Given the description of an element on the screen output the (x, y) to click on. 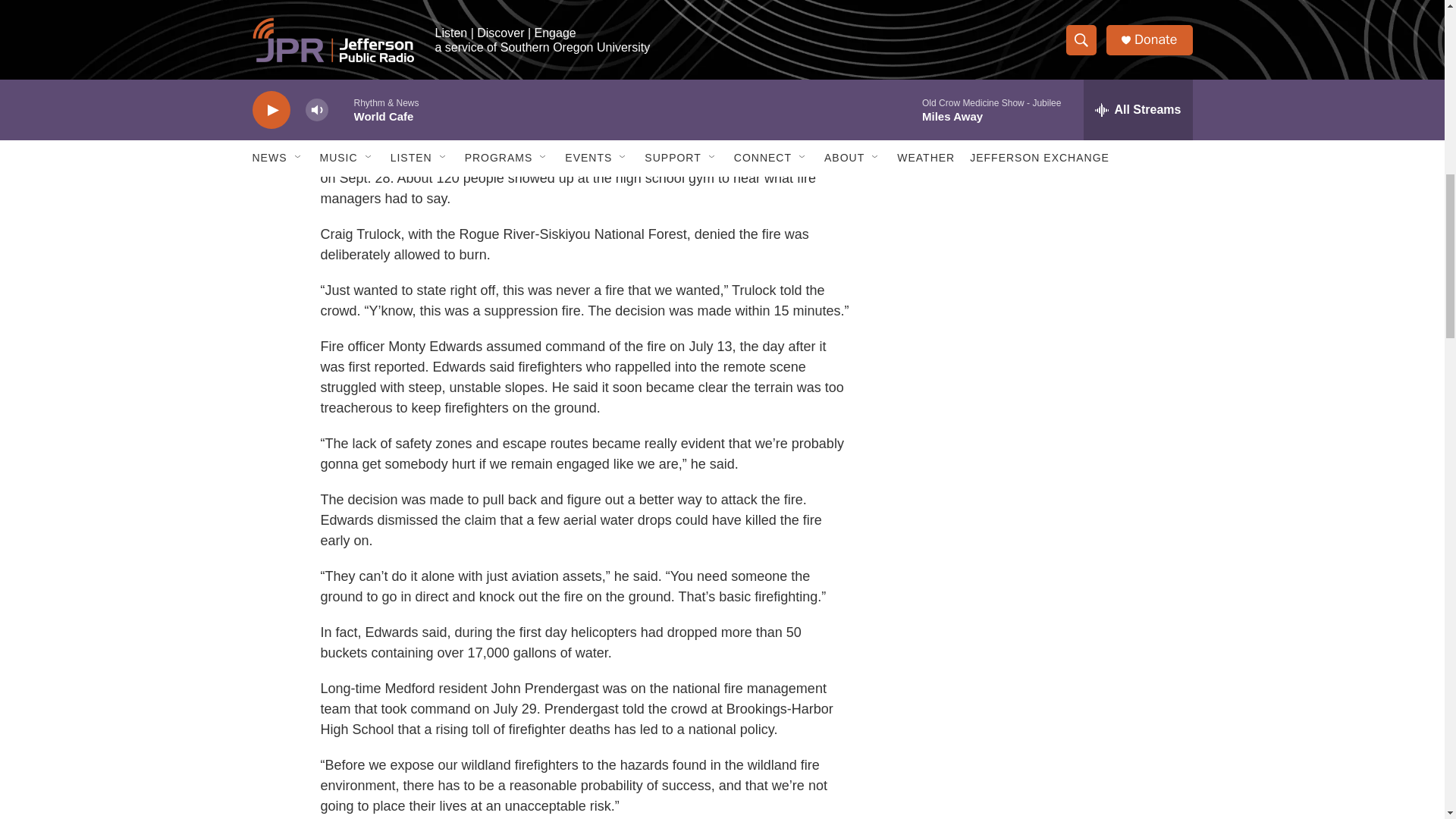
3rd party ad content (1062, 16)
